Given the description of an element on the screen output the (x, y) to click on. 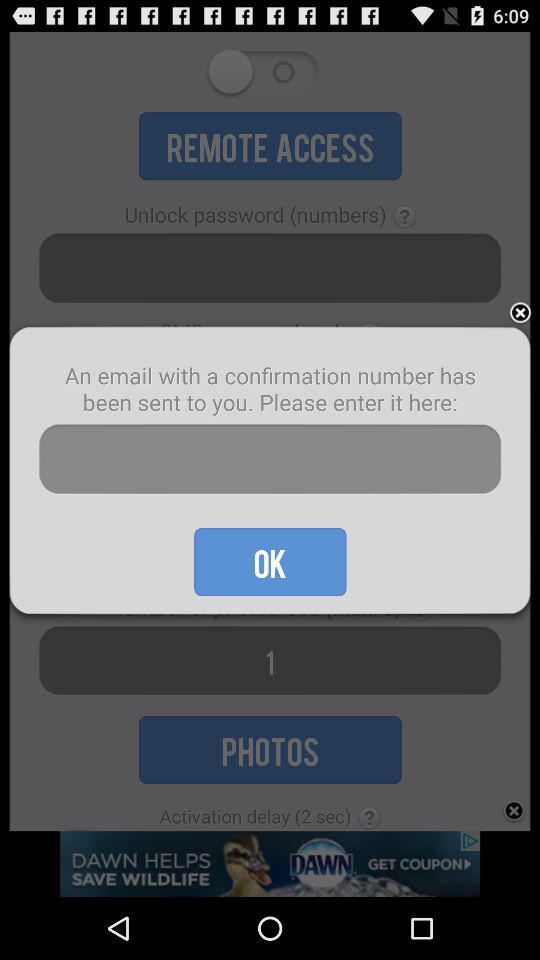
box to type a confirmation number in (270, 459)
